Given the description of an element on the screen output the (x, y) to click on. 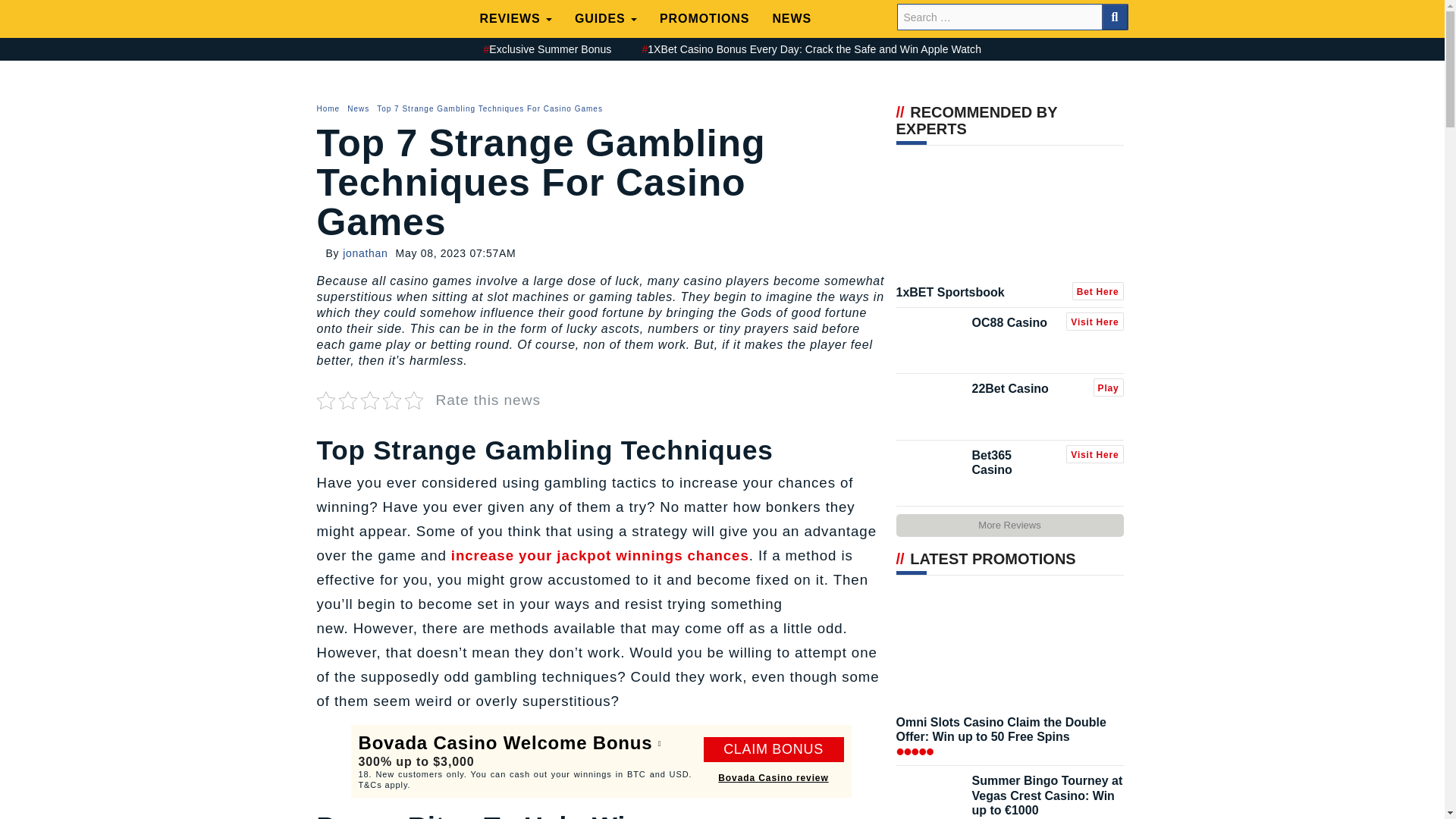
Reviews (515, 18)
REVIEWS (515, 18)
Search (1113, 17)
Home (330, 108)
increase your jackpot winnings chances (597, 555)
News (357, 108)
JackpotFinder (385, 23)
Exclusive Summer Bonus (547, 49)
NEWS (791, 18)
GUIDES (605, 18)
